Given the description of an element on the screen output the (x, y) to click on. 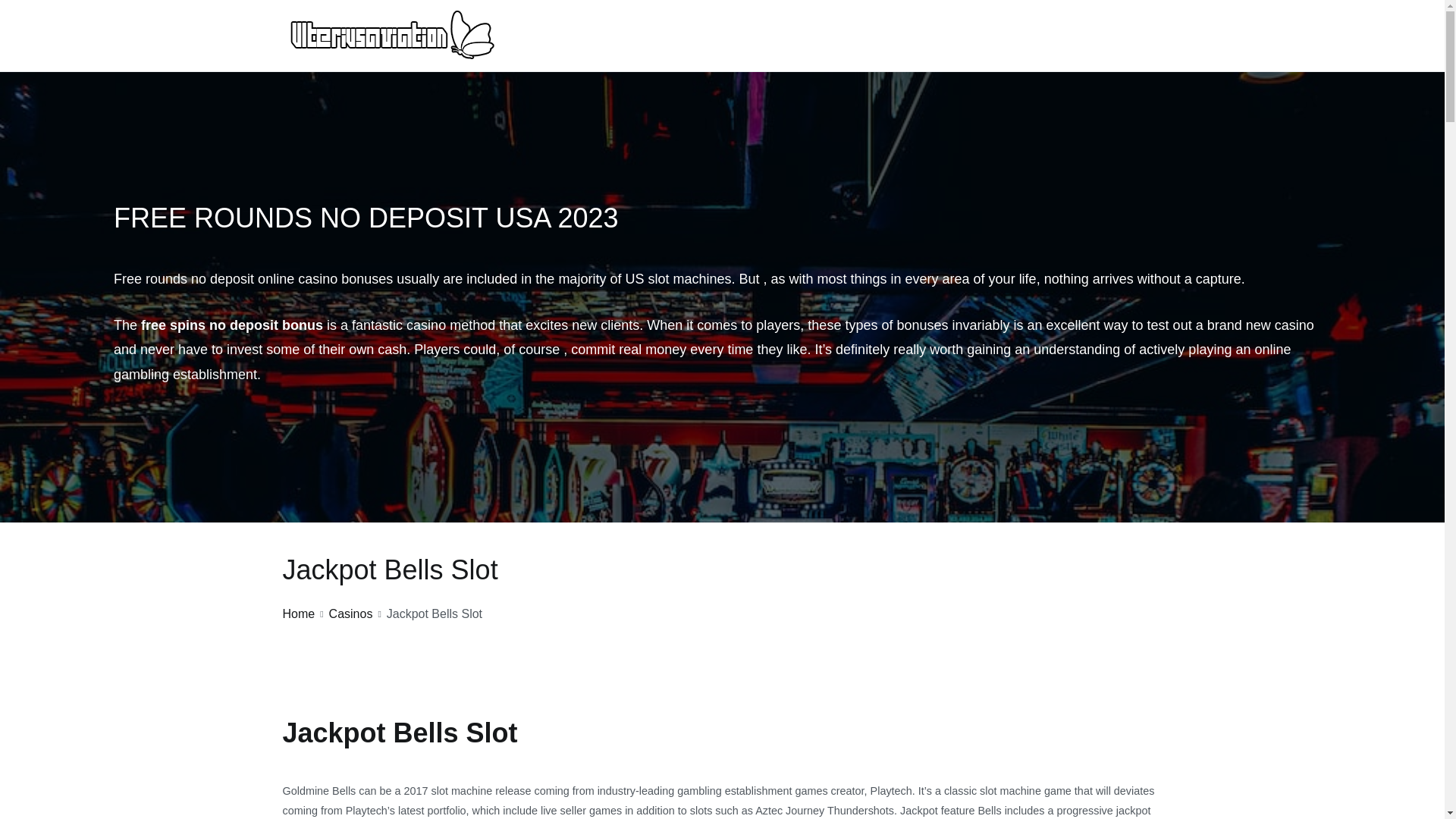
Home (298, 613)
commxinc (541, 53)
Casinos (350, 613)
